Given the description of an element on the screen output the (x, y) to click on. 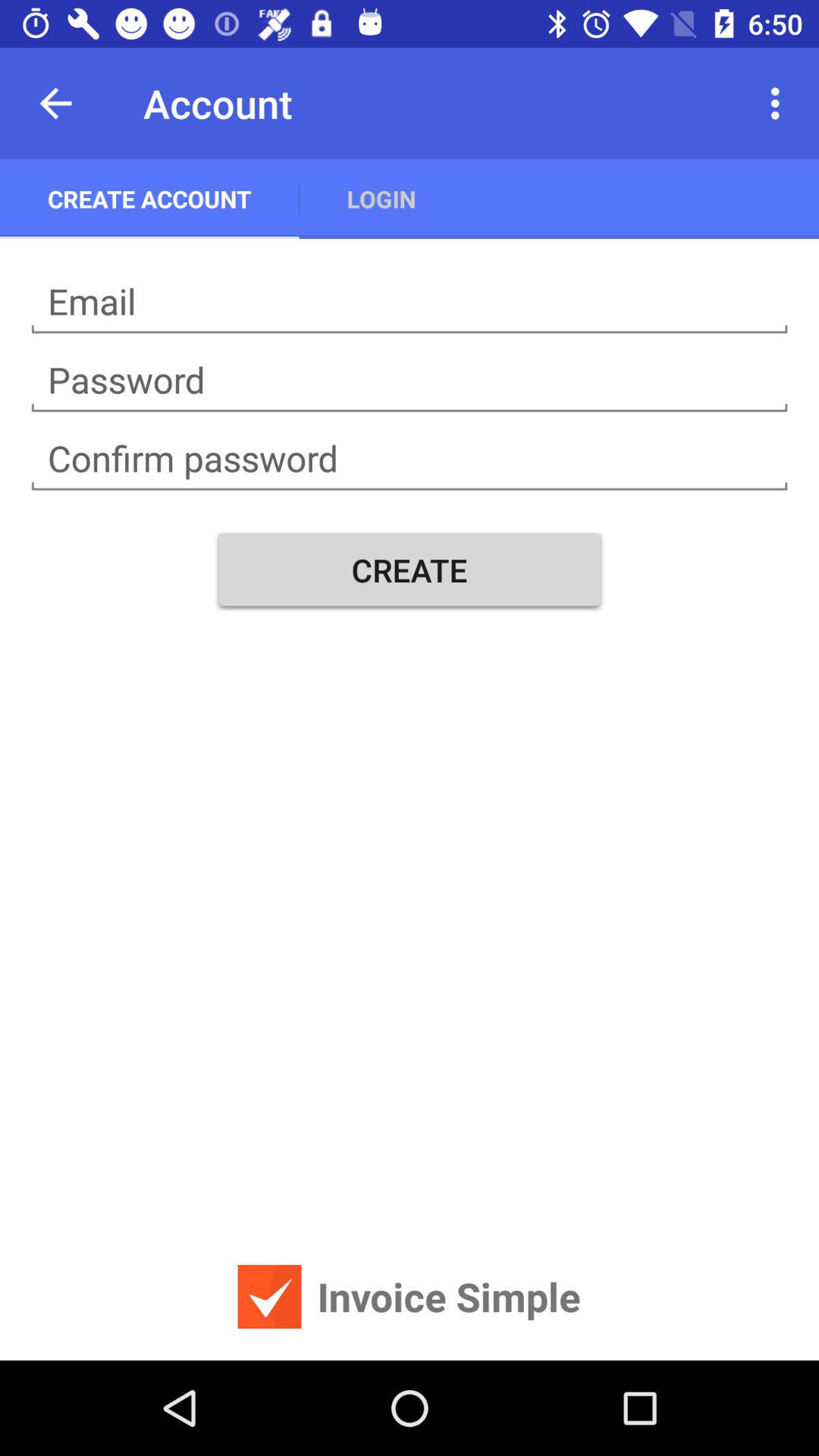
type password (409, 380)
